Given the description of an element on the screen output the (x, y) to click on. 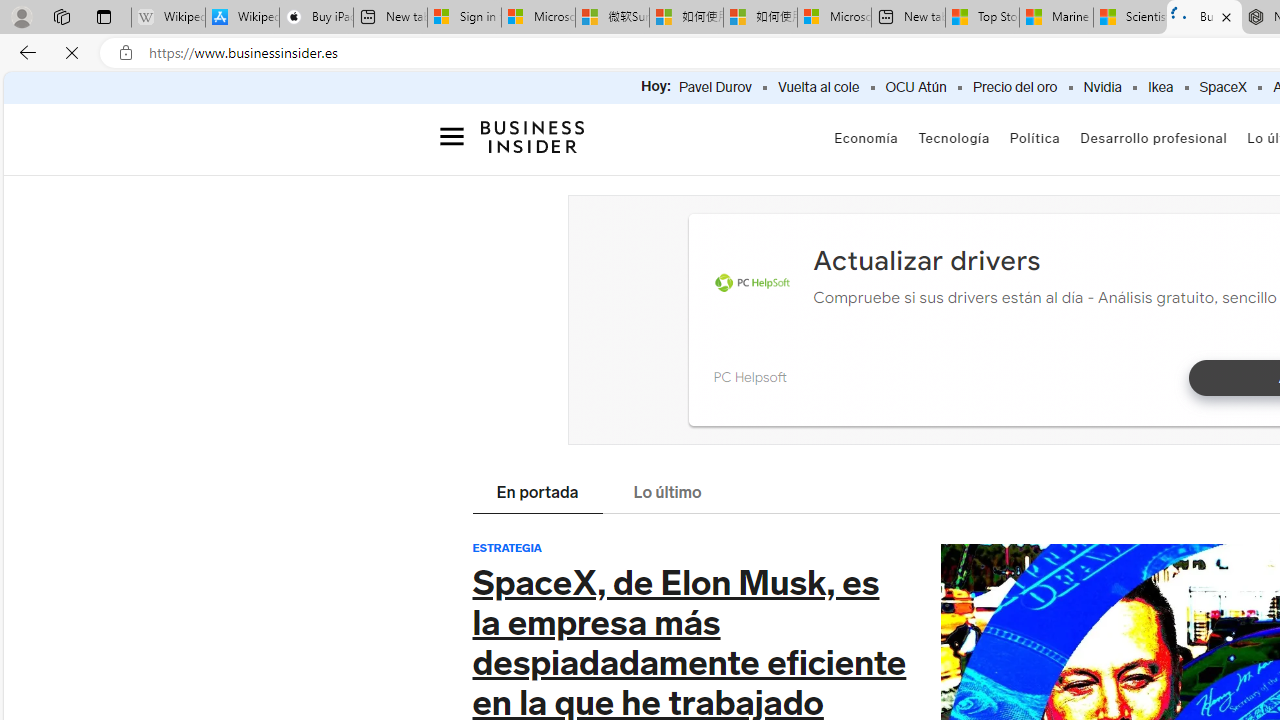
PC Helpsoft (749, 376)
Pavel Durov (714, 88)
Buy iPad - Apple (316, 17)
